Given the description of an element on the screen output the (x, y) to click on. 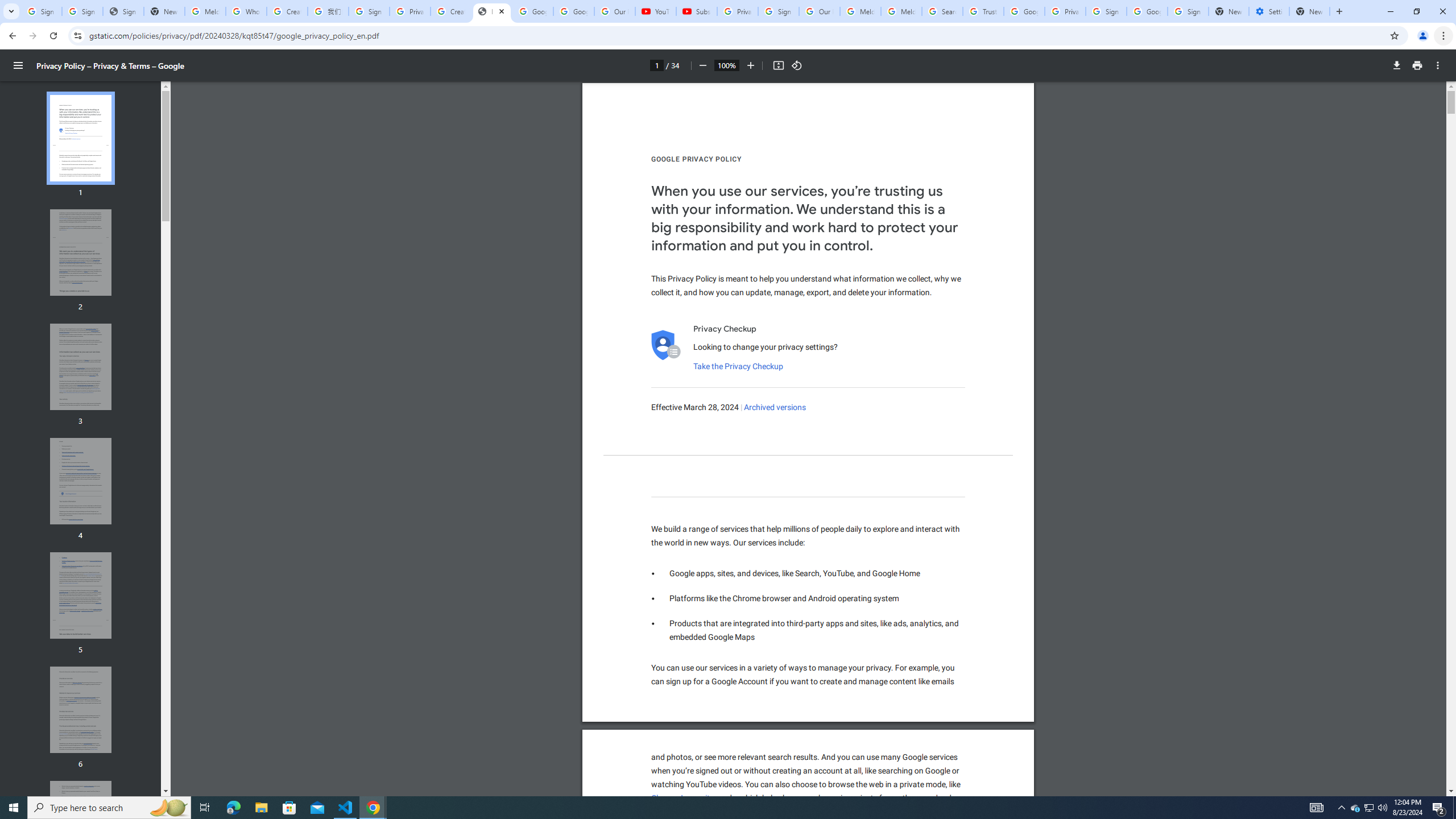
Who is my administrator? - Google Account Help (246, 11)
Menu (17, 65)
Sign in - Google Accounts (368, 11)
Rotate counterclockwise (796, 65)
More actions (1437, 65)
Google Account (573, 11)
Create your Google Account (287, 11)
